Given the description of an element on the screen output the (x, y) to click on. 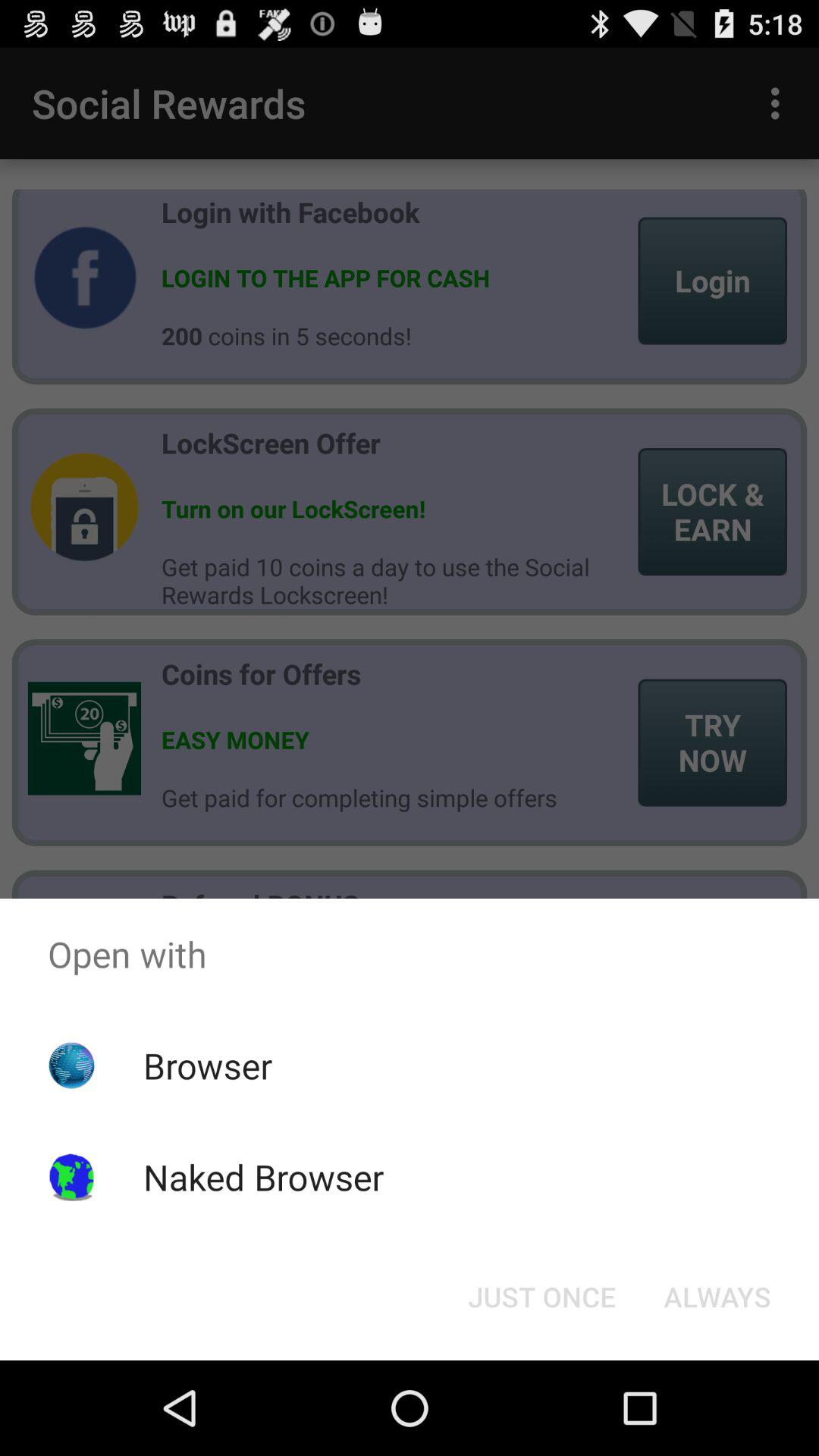
turn on icon below the open with icon (541, 1296)
